Given the description of an element on the screen output the (x, y) to click on. 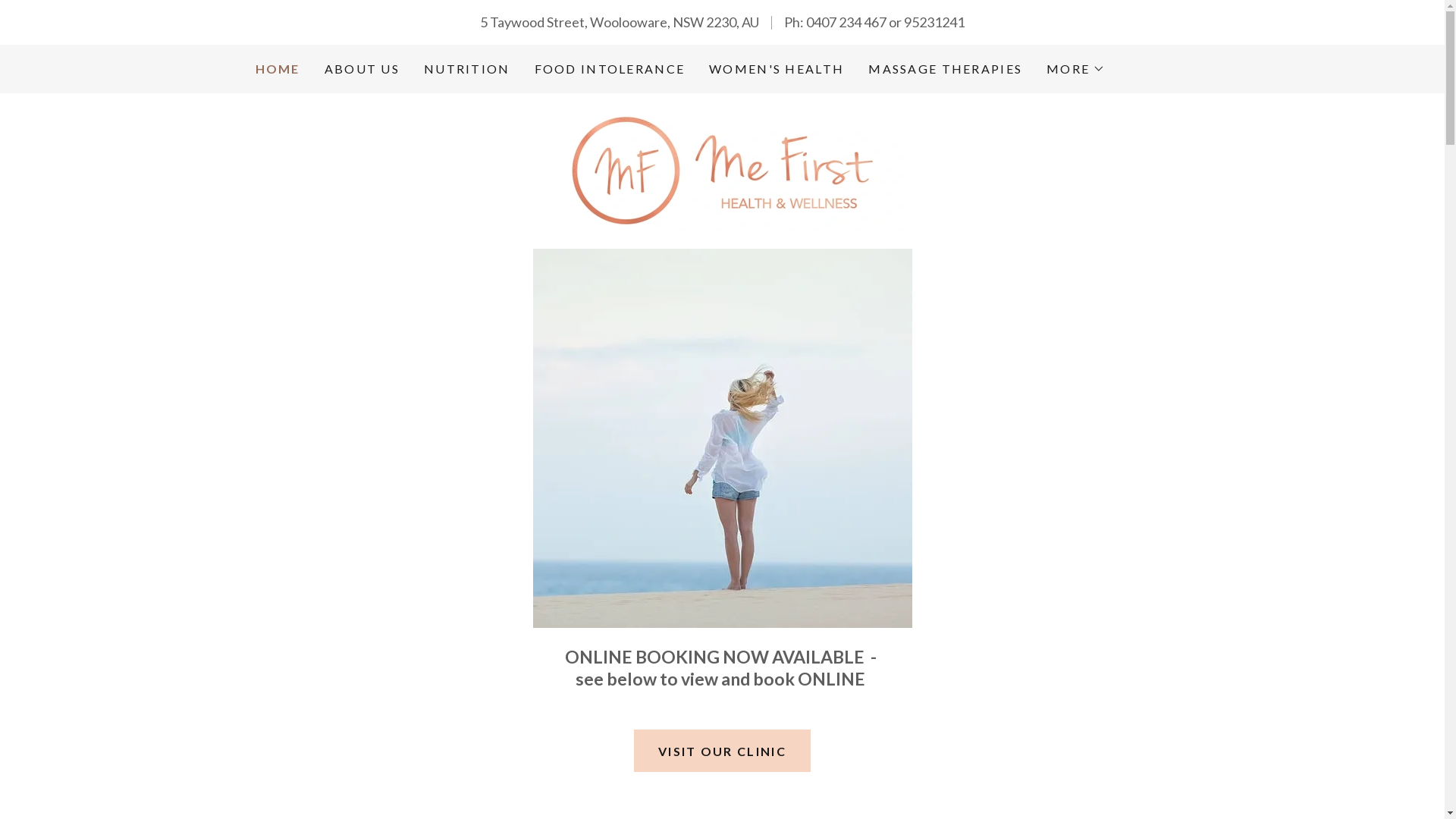
MORE Element type: text (1075, 68)
NUTRITION Element type: text (466, 68)
0407 234 467 Element type: text (846, 21)
Me First Health & Wellness Clinic Element type: hover (722, 168)
HOME Element type: text (276, 68)
MASSAGE THERAPIES Element type: text (944, 68)
FOOD INTOLERANCE Element type: text (610, 68)
95231241 Element type: text (933, 21)
VISIT OUR CLINIC Element type: text (721, 750)
WOMEN'S HEALTH Element type: text (776, 68)
ABOUT US Element type: text (362, 68)
